Given the description of an element on the screen output the (x, y) to click on. 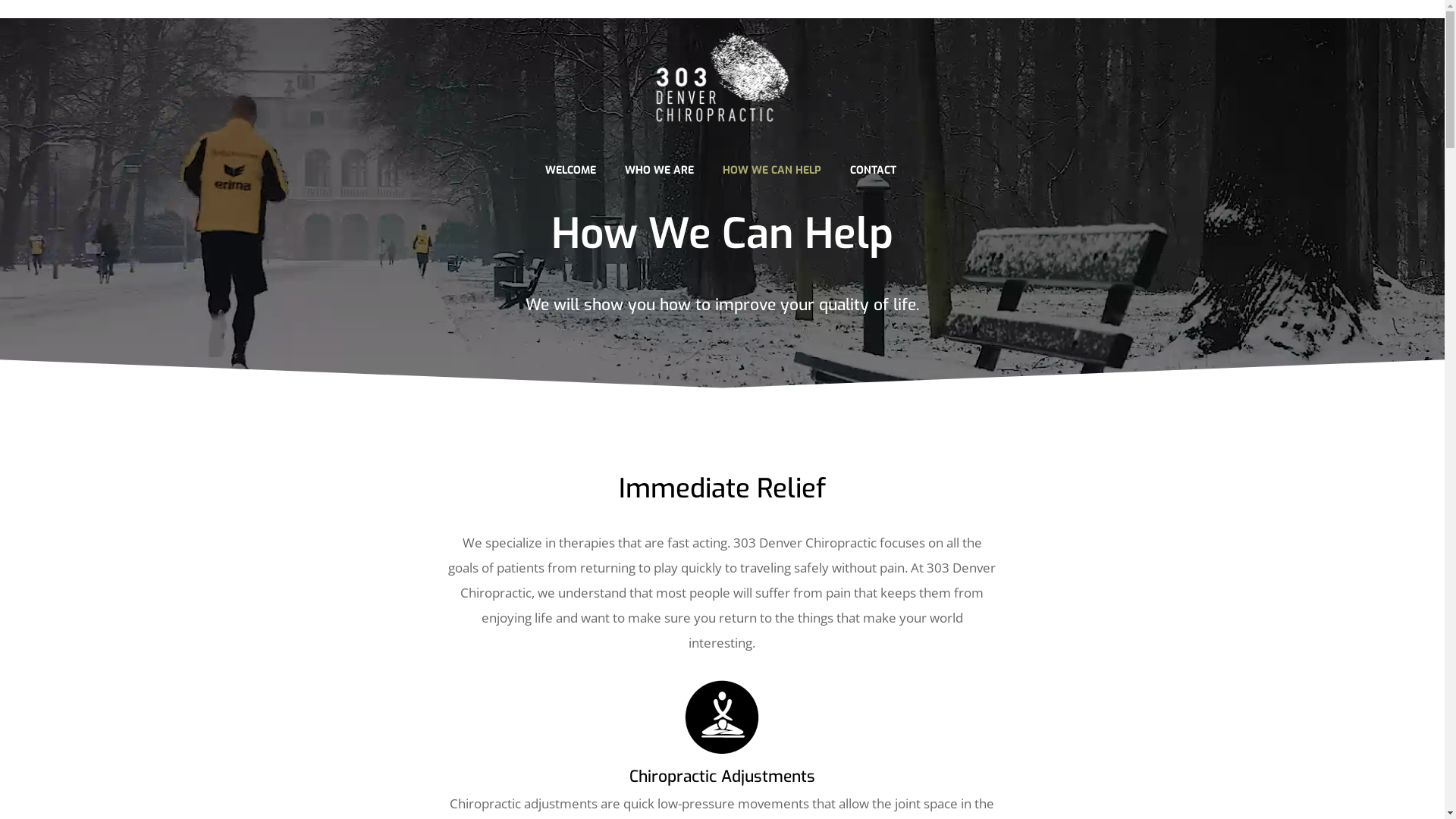
HOW WE CAN HELP Element type: text (771, 169)
WHO WE ARE Element type: text (658, 169)
WELCOME Element type: text (570, 169)
CONTACT Element type: text (872, 169)
